Given the description of an element on the screen output the (x, y) to click on. 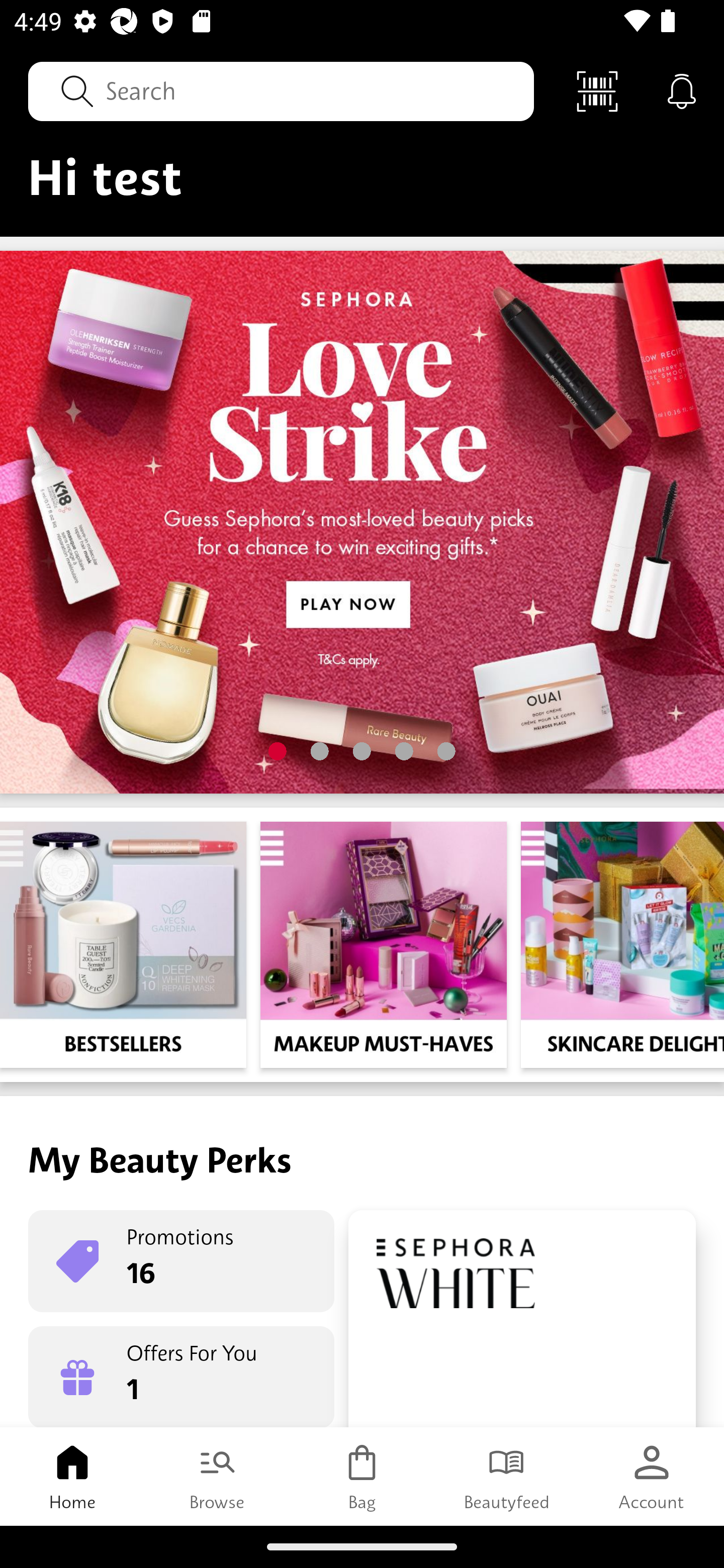
Scan Code (597, 90)
Notifications (681, 90)
Search (281, 90)
Promotions 16 (181, 1261)
Rewards Boutique 90 Pts (521, 1318)
Offers For You 1 (181, 1376)
Browse (216, 1475)
Bag (361, 1475)
Beautyfeed (506, 1475)
Account (651, 1475)
